Given the description of an element on the screen output the (x, y) to click on. 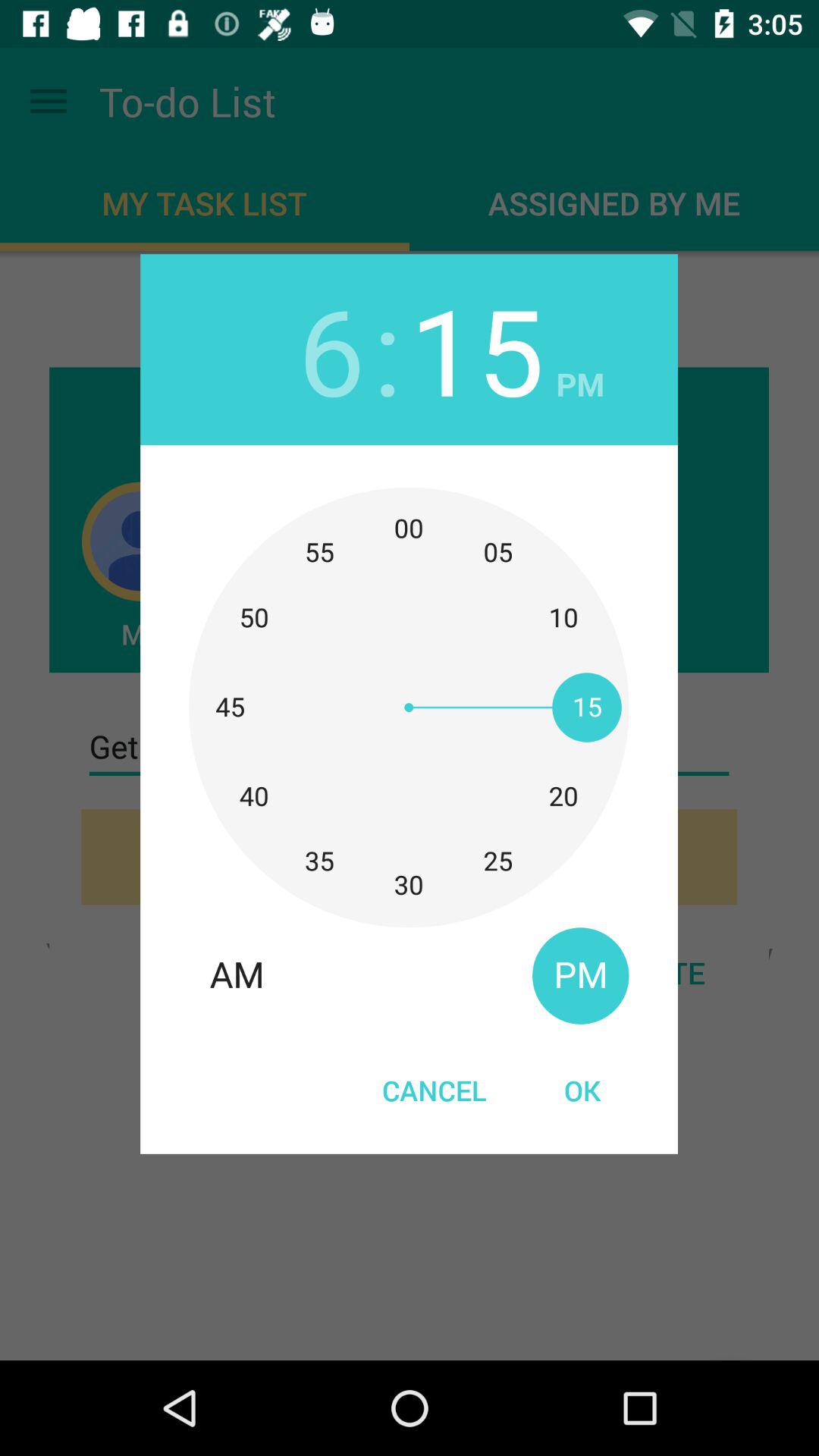
select item to the left of the : (331, 349)
